Given the description of an element on the screen output the (x, y) to click on. 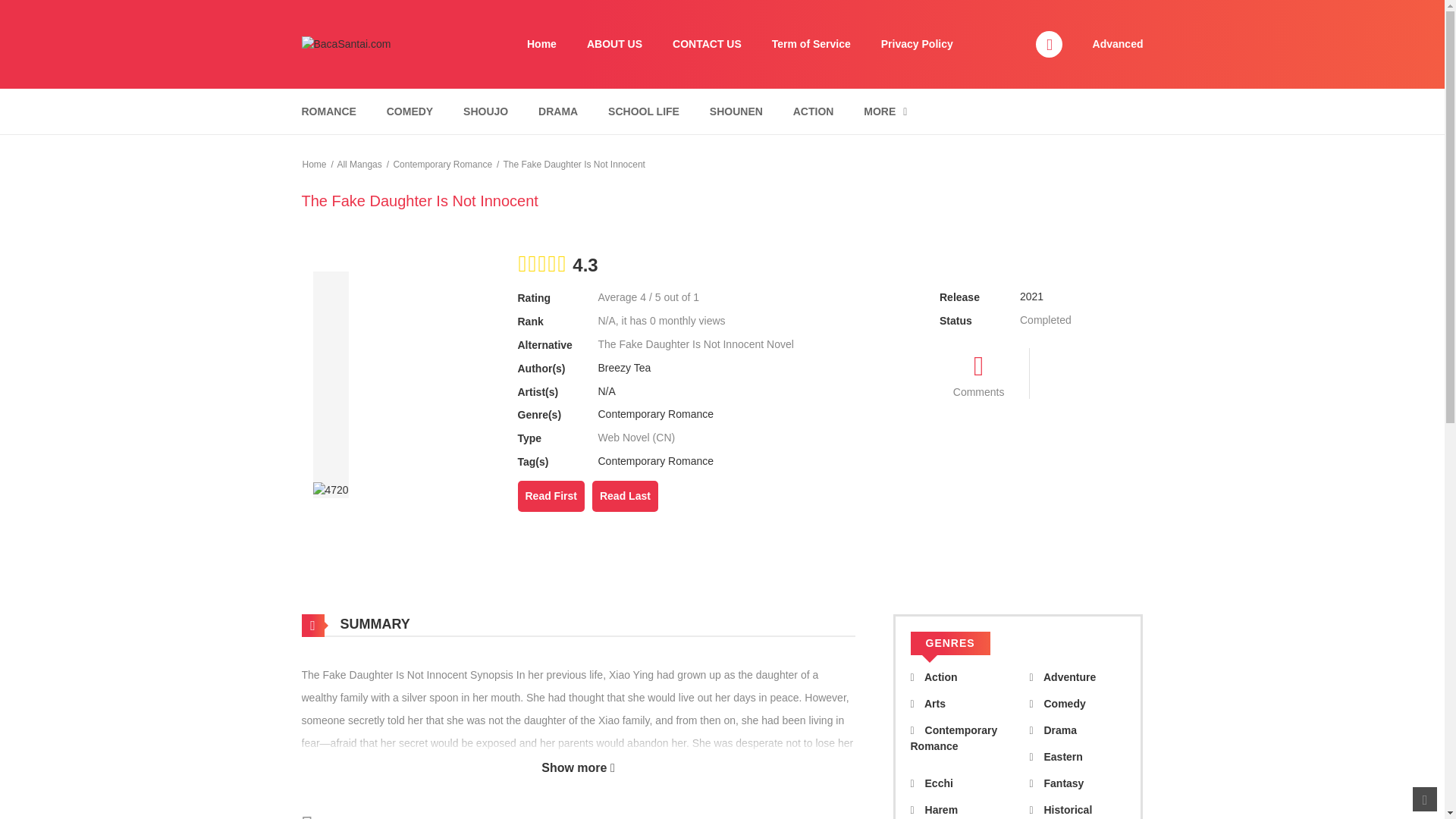
ABOUT US (615, 44)
Advanced (1117, 43)
COMEDY (409, 111)
Home (542, 44)
SHOUNEN (736, 111)
Term of Service (811, 44)
ACTION (813, 111)
Search (970, 9)
CONTACT US (707, 44)
DRAMA (558, 111)
BacaSantai.com (346, 43)
MORE (885, 111)
SCHOOL LIFE (643, 111)
Privacy Policy (917, 44)
ROMANCE (328, 111)
